Given the description of an element on the screen output the (x, y) to click on. 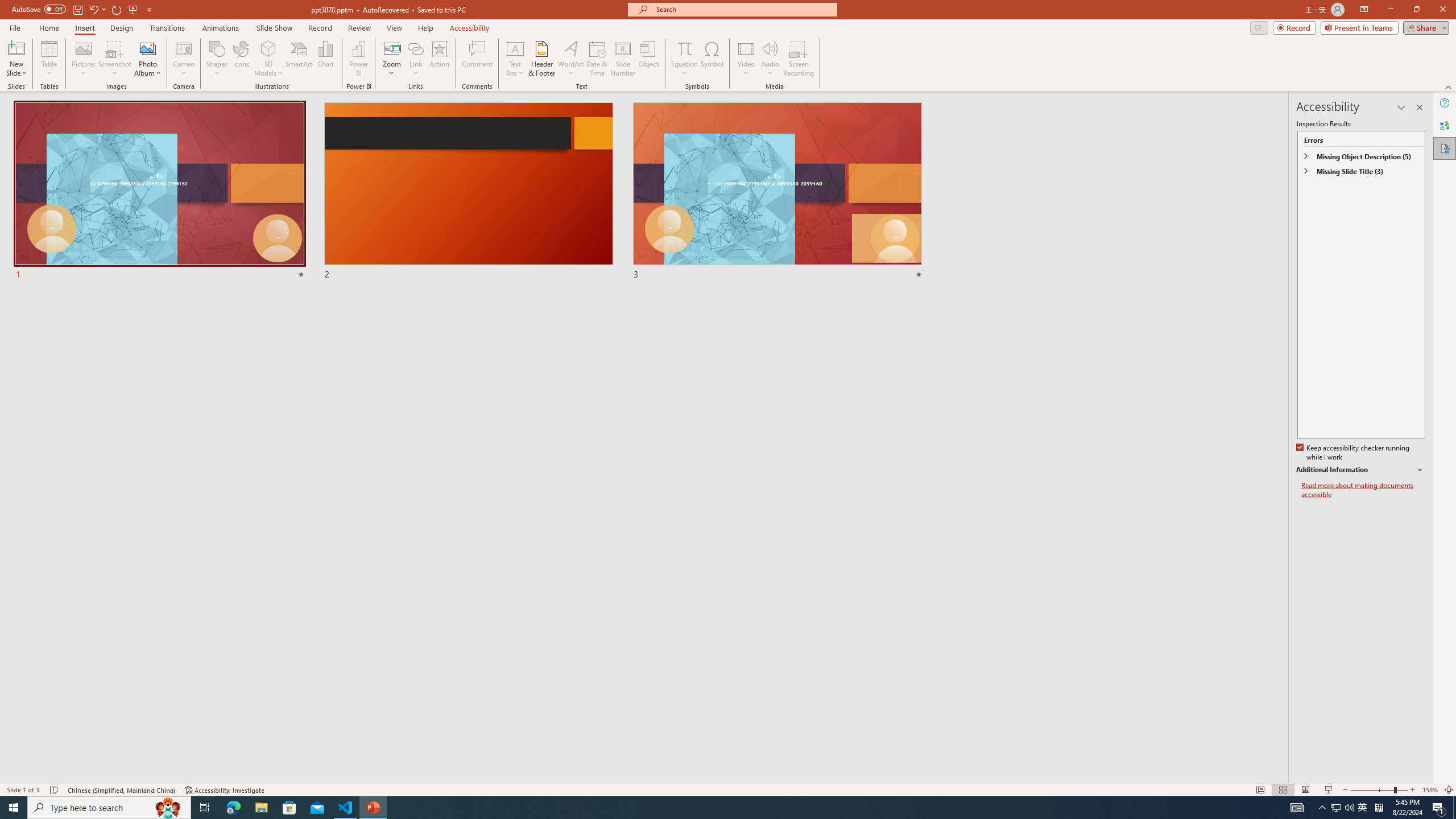
SmartArt... (298, 58)
Photo Album... (147, 58)
Video (745, 58)
Table (49, 58)
Screenshot (114, 58)
